Given the description of an element on the screen output the (x, y) to click on. 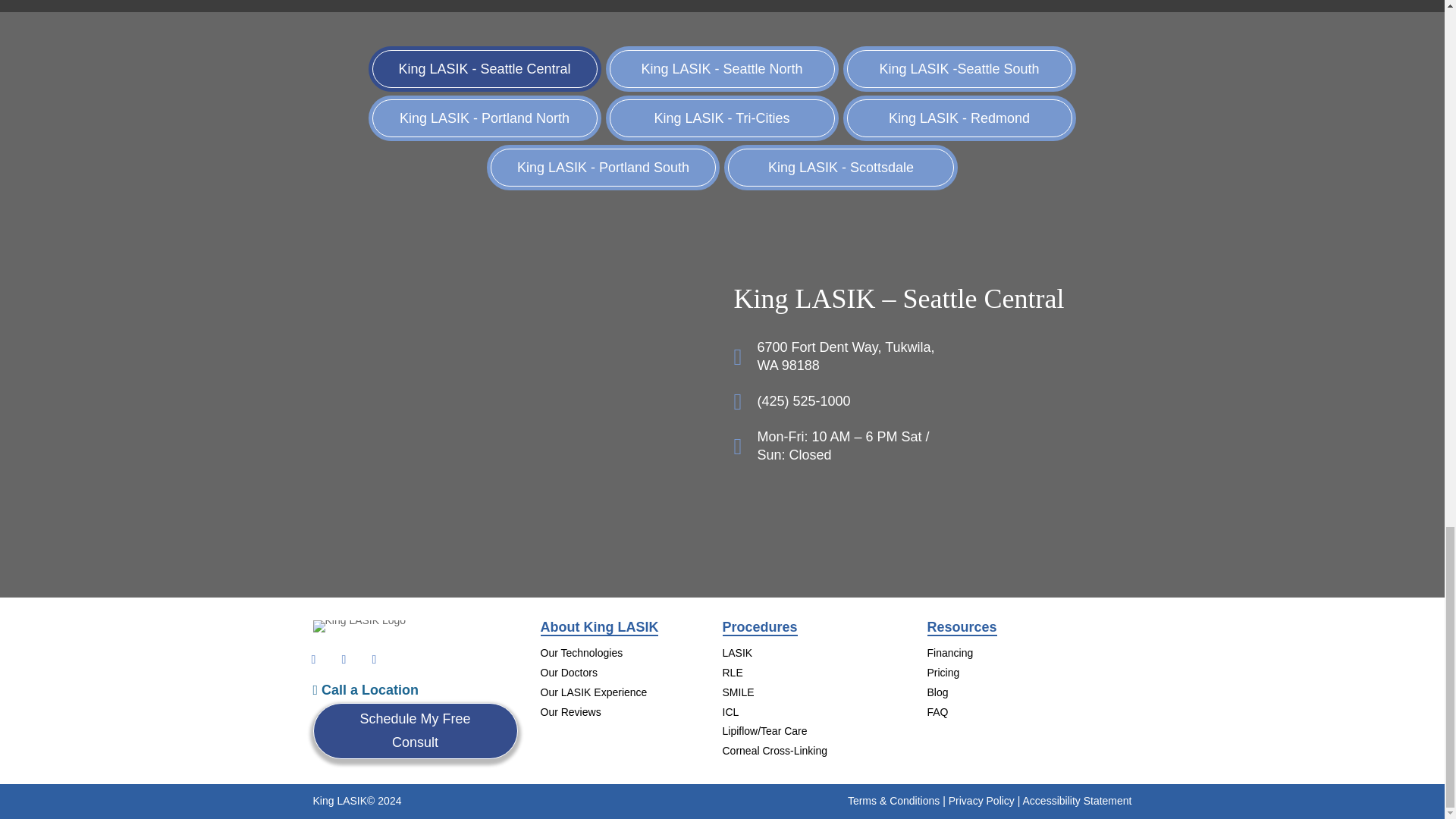
Follow on Facebook (313, 659)
Follow on Yelp (374, 659)
Follow on Youtube (343, 659)
